Given the description of an element on the screen output the (x, y) to click on. 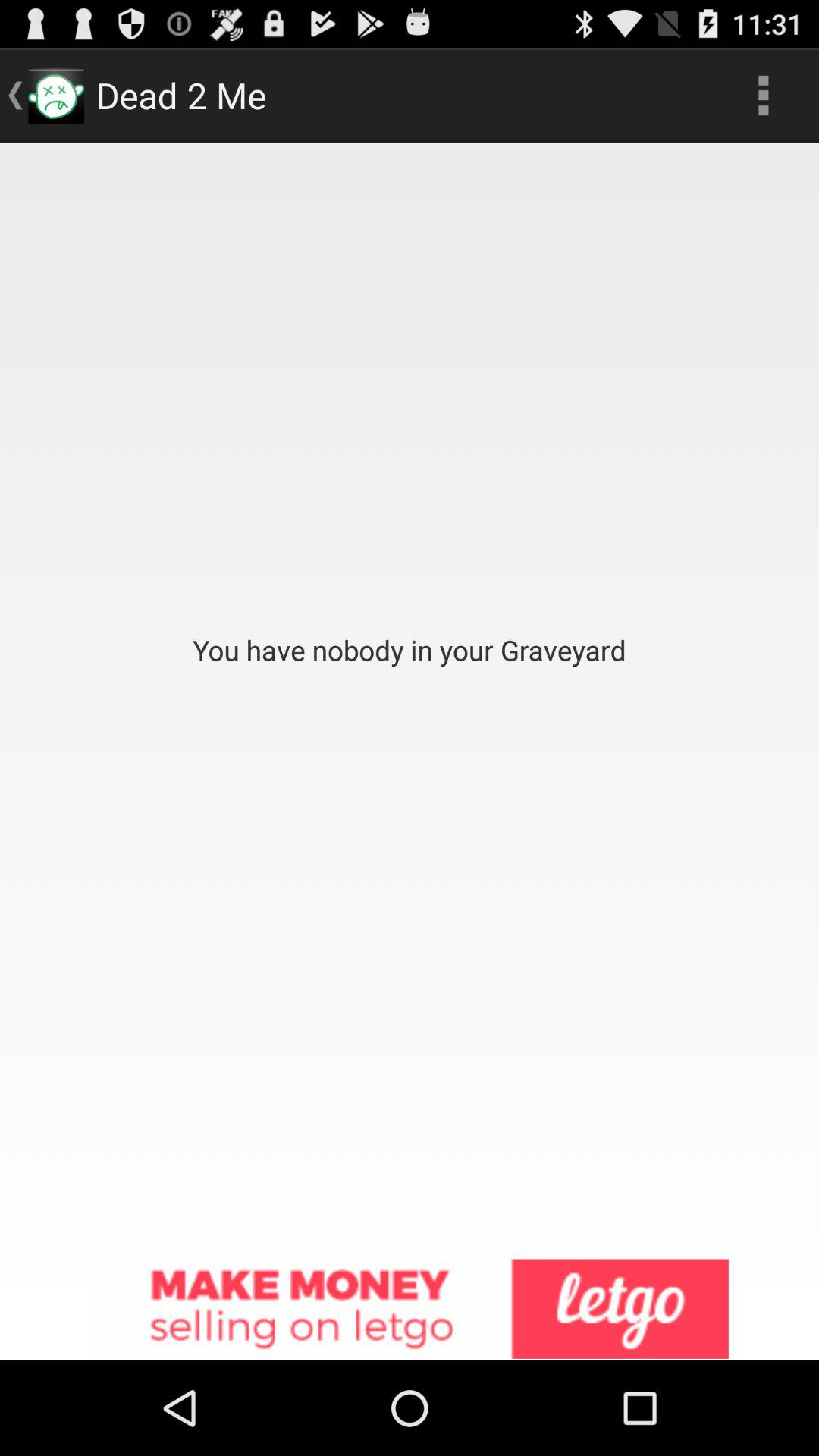
advertisement (409, 1309)
